Given the description of an element on the screen output the (x, y) to click on. 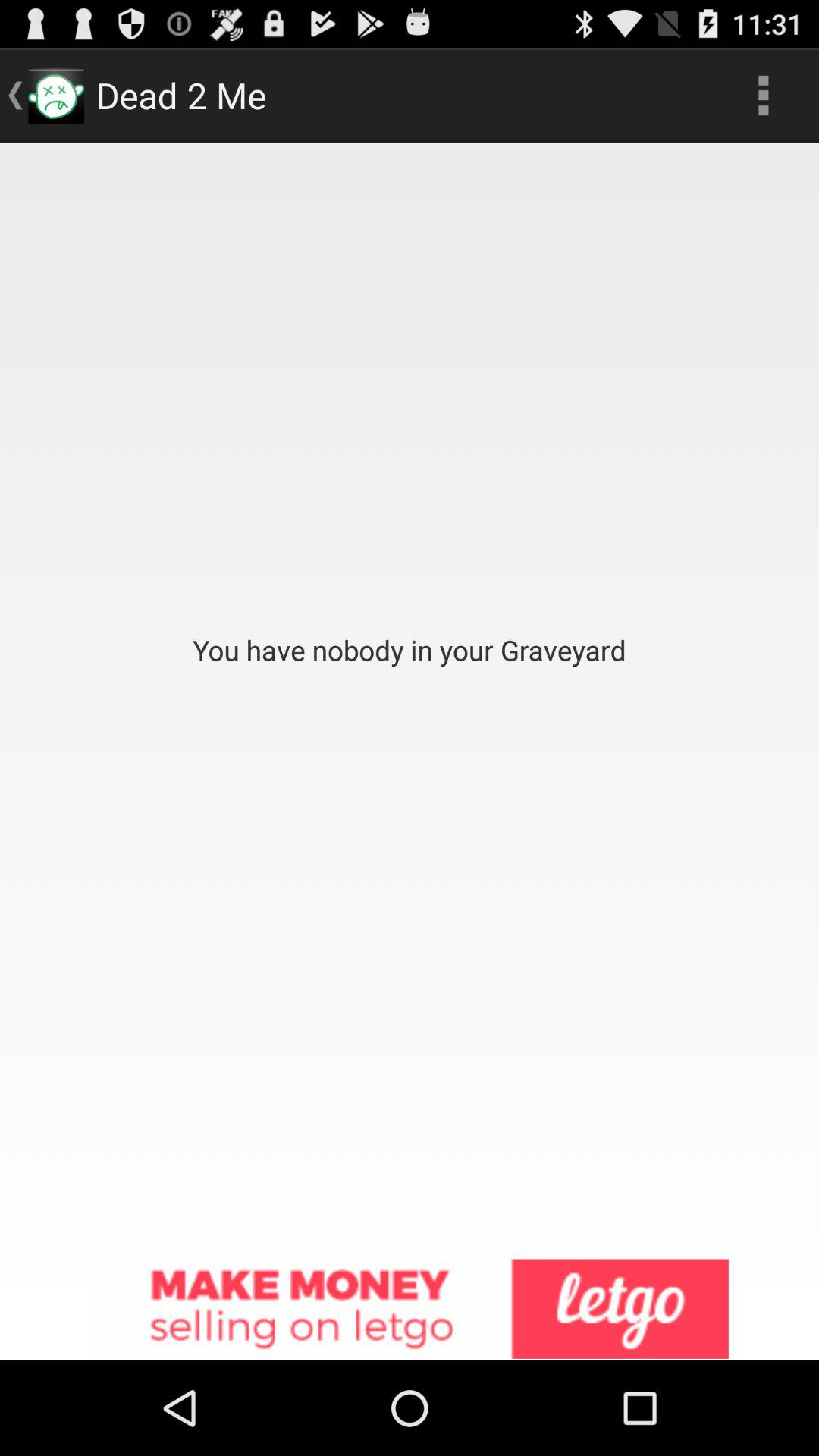
advertisement (409, 1309)
